Given the description of an element on the screen output the (x, y) to click on. 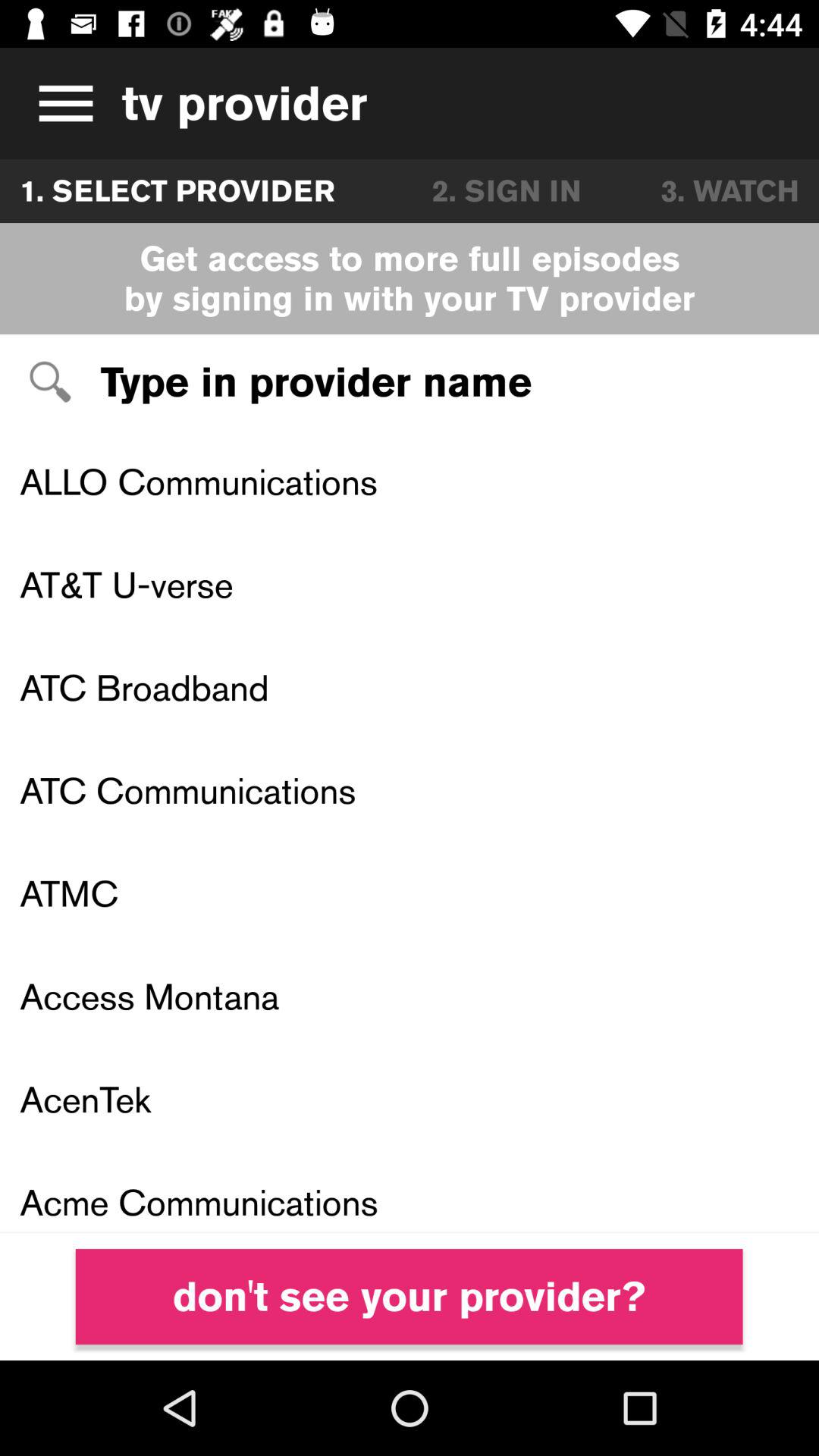
this is television advertisement (60, 103)
